Given the description of an element on the screen output the (x, y) to click on. 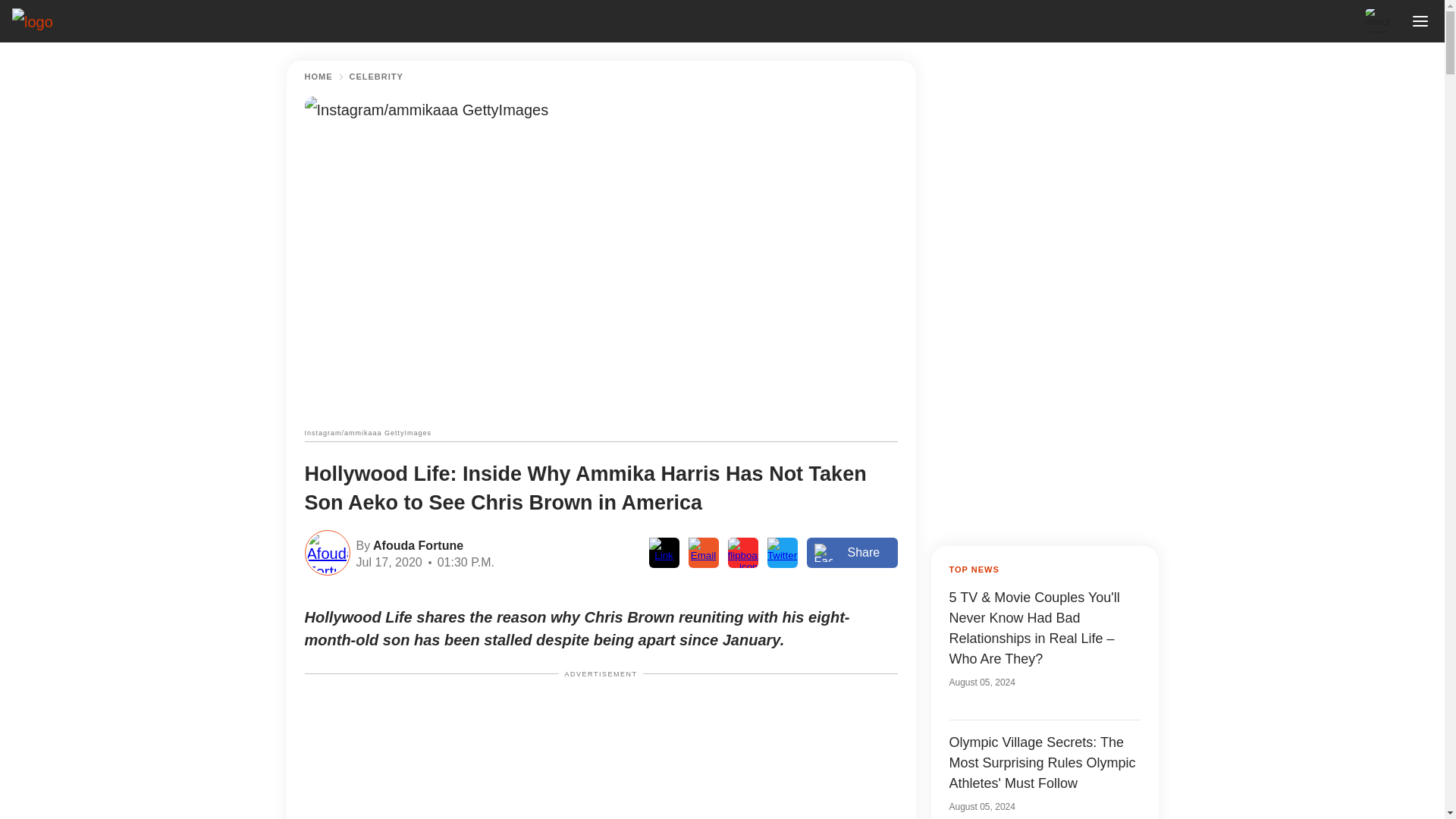
Afouda Fortune (416, 544)
HOME (318, 76)
CELEBRITY (376, 76)
